Given the description of an element on the screen output the (x, y) to click on. 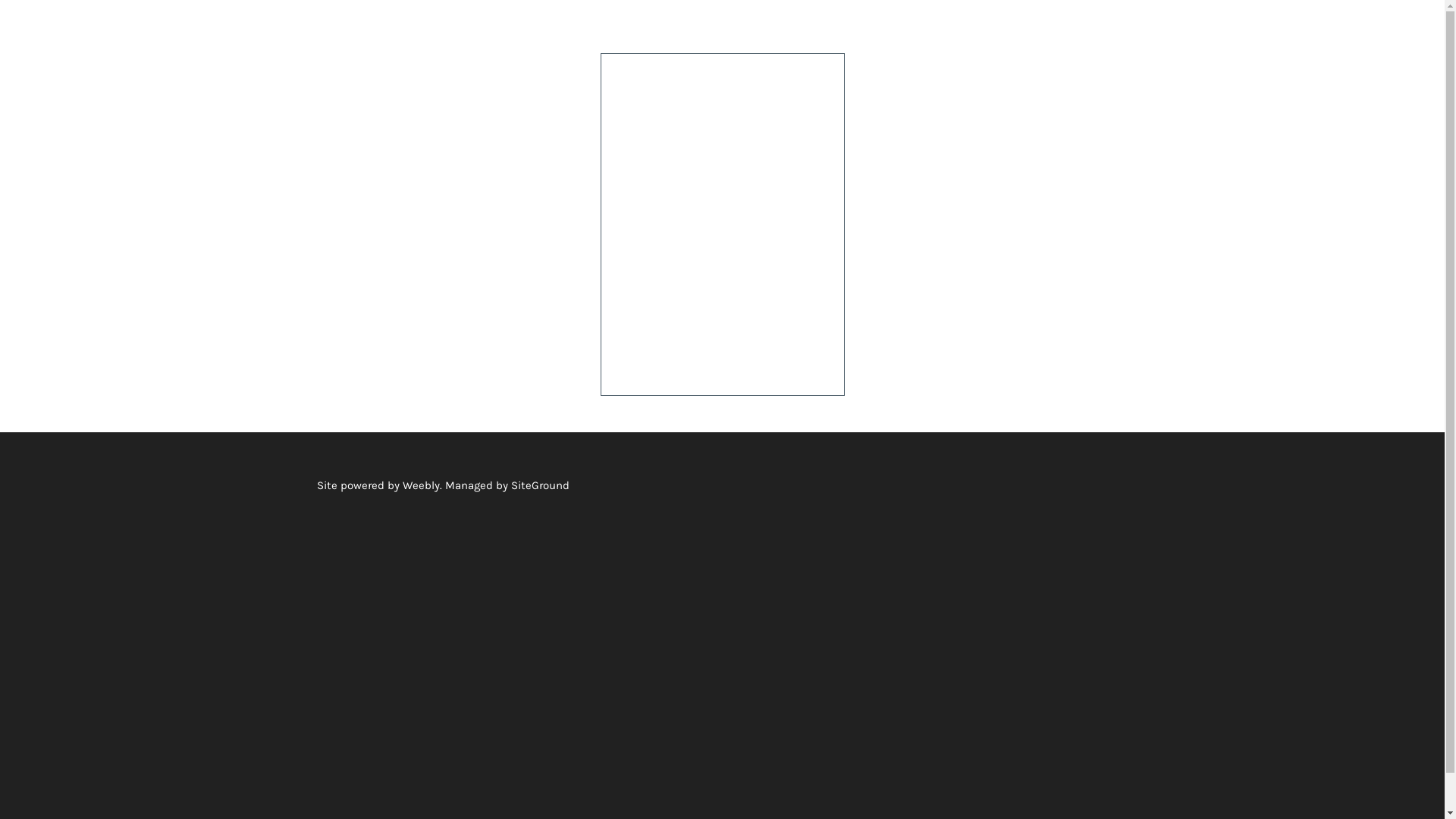
SiteGround Element type: text (540, 484)
